Given the description of an element on the screen output the (x, y) to click on. 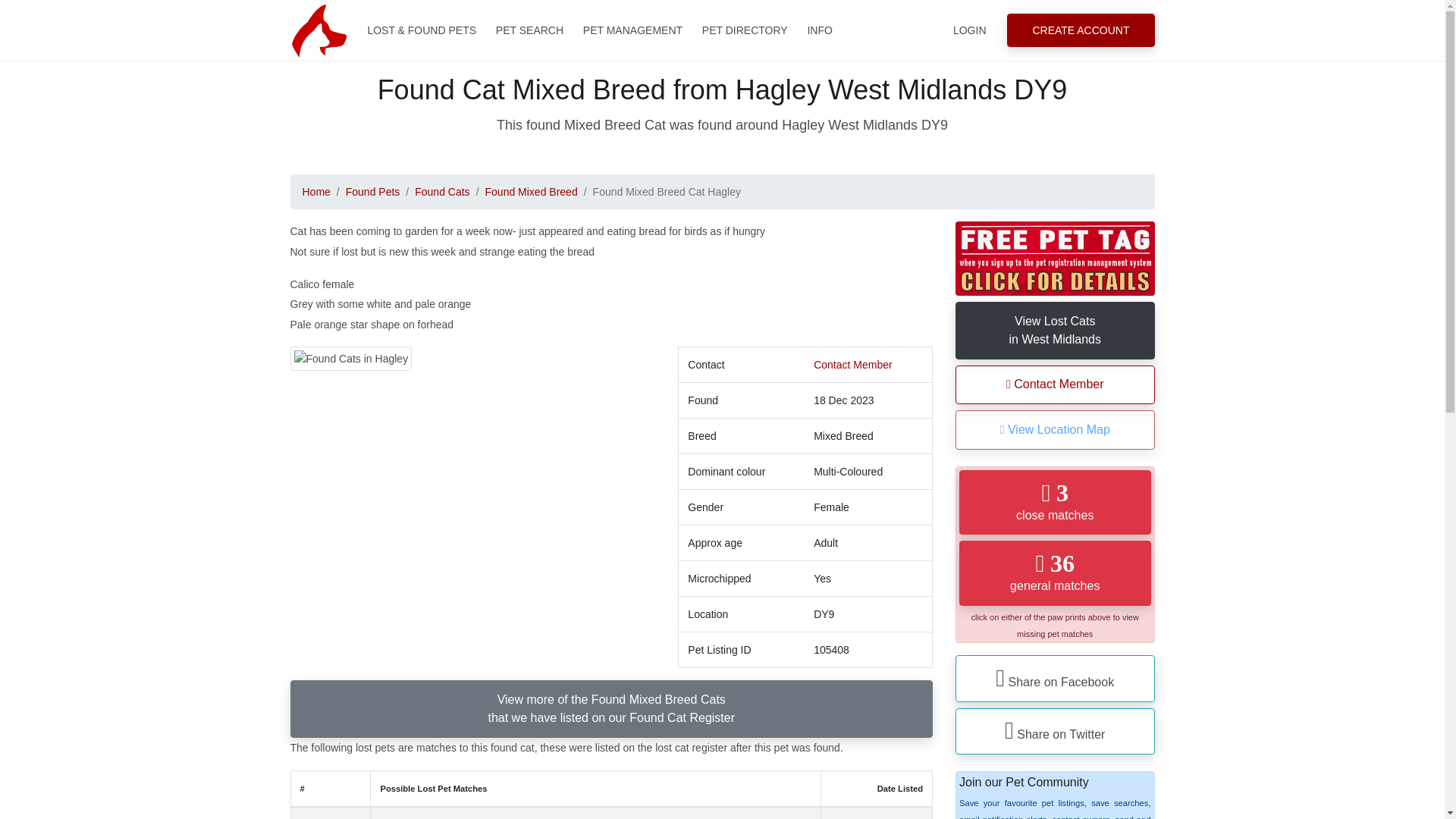
Post to Twiiter (1054, 731)
Found Cats (441, 191)
Found Pets (373, 191)
Found Mixed Breed (531, 191)
PET MANAGEMENT (632, 30)
CREATE ACCOUNT (1080, 29)
PET SEARCH (529, 30)
Contact Member (852, 364)
Home (315, 191)
National Pet Register (317, 30)
share on FaceBook (1054, 678)
PET DIRECTORY (744, 30)
